Given the description of an element on the screen output the (x, y) to click on. 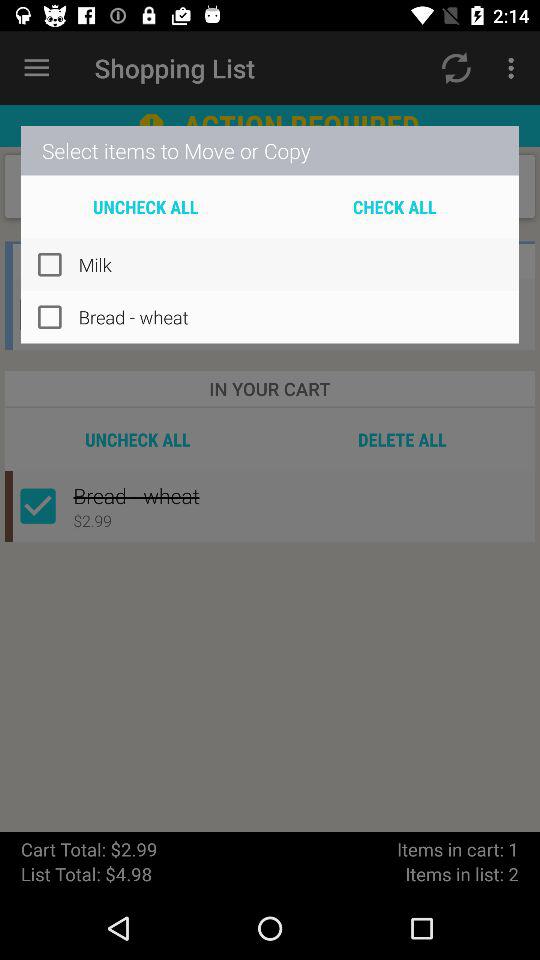
select the icon above the milk item (394, 206)
